Given the description of an element on the screen output the (x, y) to click on. 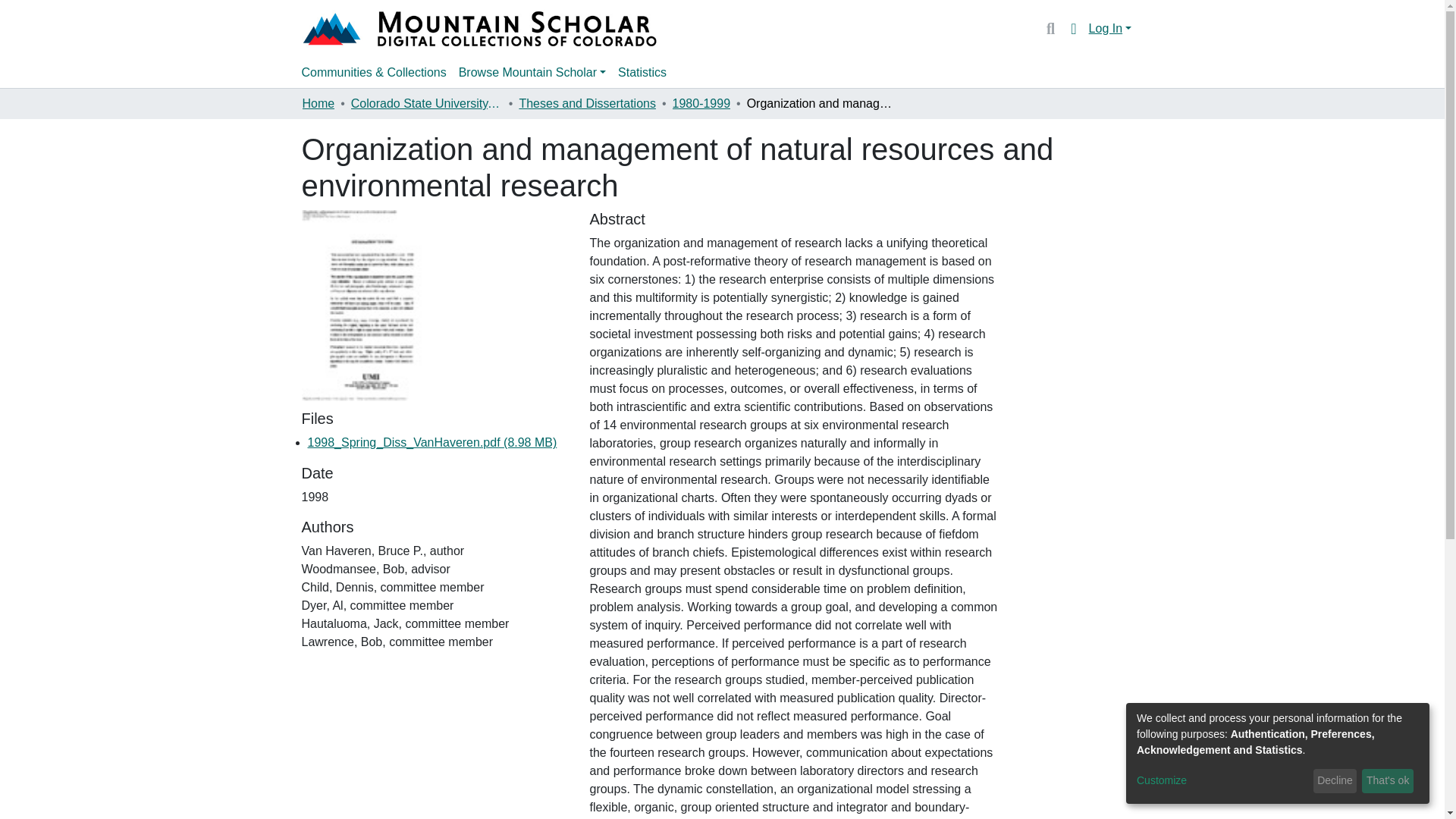
Theses and Dissertations (587, 104)
Statistics (641, 72)
Browse Mountain Scholar (531, 72)
Colorado State University, Fort Collins (426, 104)
Language switch (1073, 28)
1980-1999 (701, 104)
That's ok (1387, 781)
Home (317, 104)
Decline (1334, 781)
Log In (1110, 28)
